Given the description of an element on the screen output the (x, y) to click on. 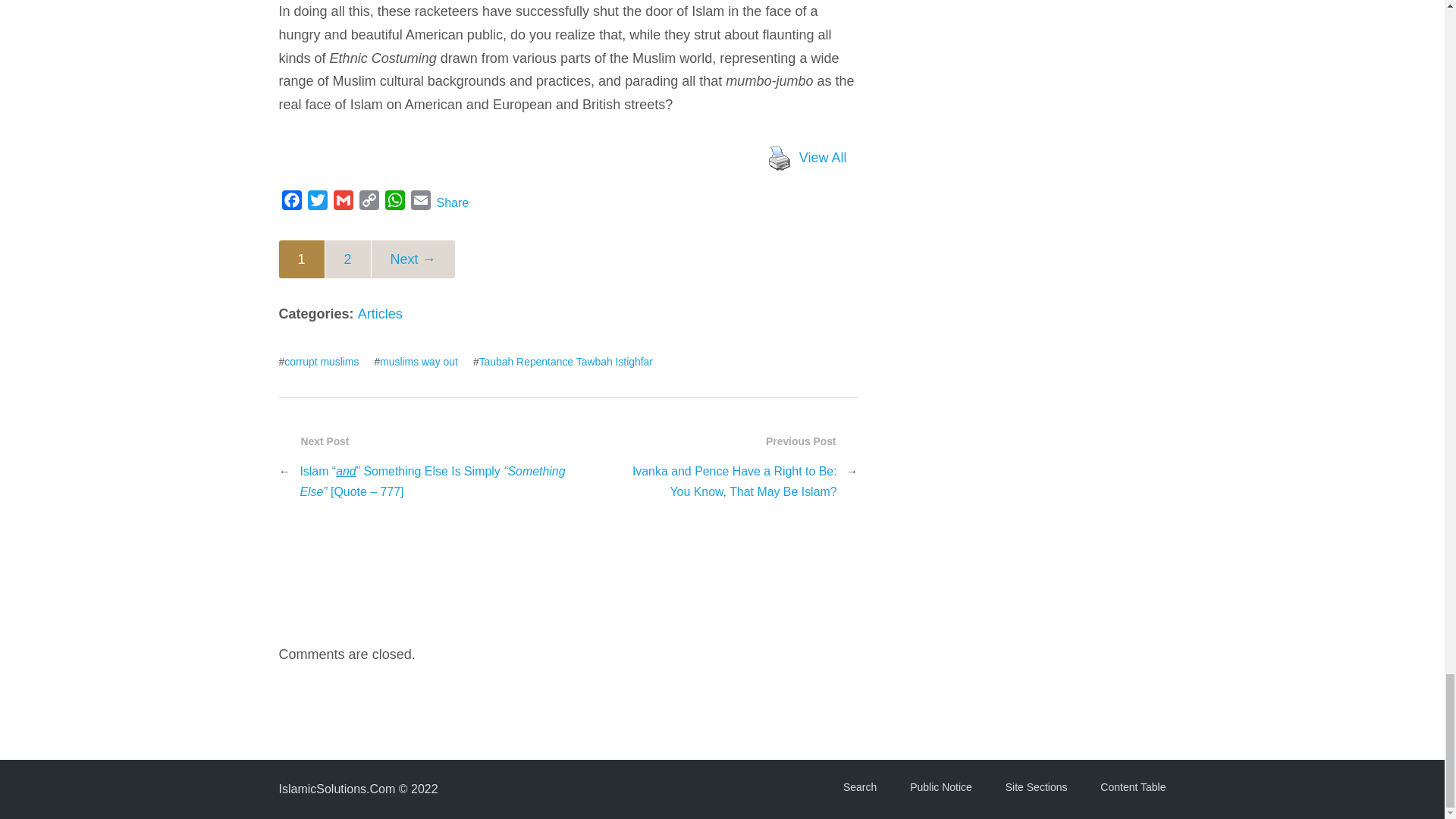
Copy Link (368, 203)
Email (420, 203)
Twitter (317, 203)
Facebook (291, 203)
Gmail (343, 203)
WhatsApp (394, 203)
Print Content (778, 158)
